Given the description of an element on the screen output the (x, y) to click on. 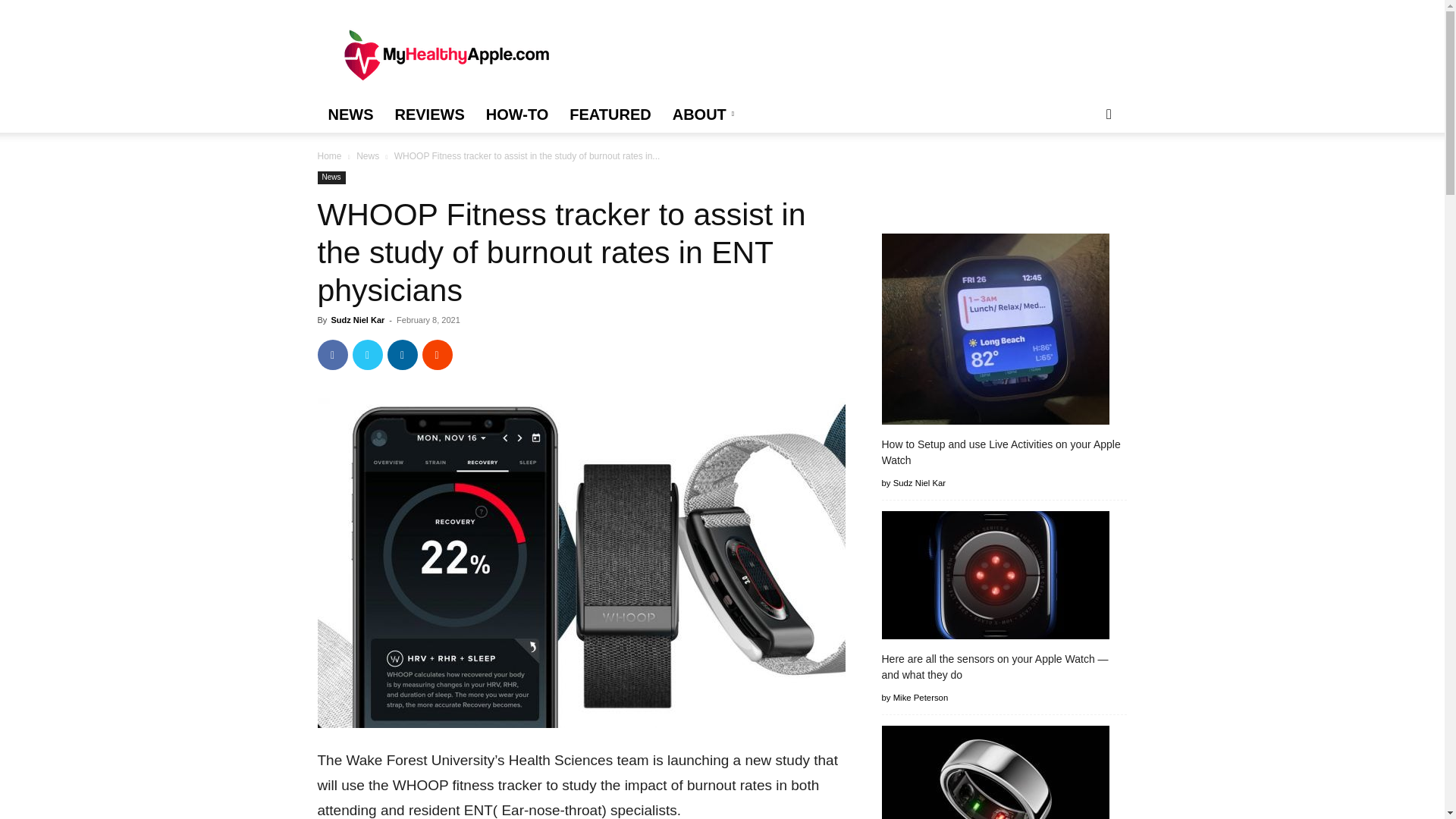
News (331, 177)
NEWS (350, 114)
Twitter (366, 354)
News (367, 155)
Linkedin (401, 354)
FEATURED (610, 114)
View all posts in News (367, 155)
ReddIt (436, 354)
Facebook (332, 354)
Search (1085, 174)
Sudz Niel Kar (357, 319)
HOW-TO (517, 114)
Home (328, 155)
ABOUT (705, 114)
